Given the description of an element on the screen output the (x, y) to click on. 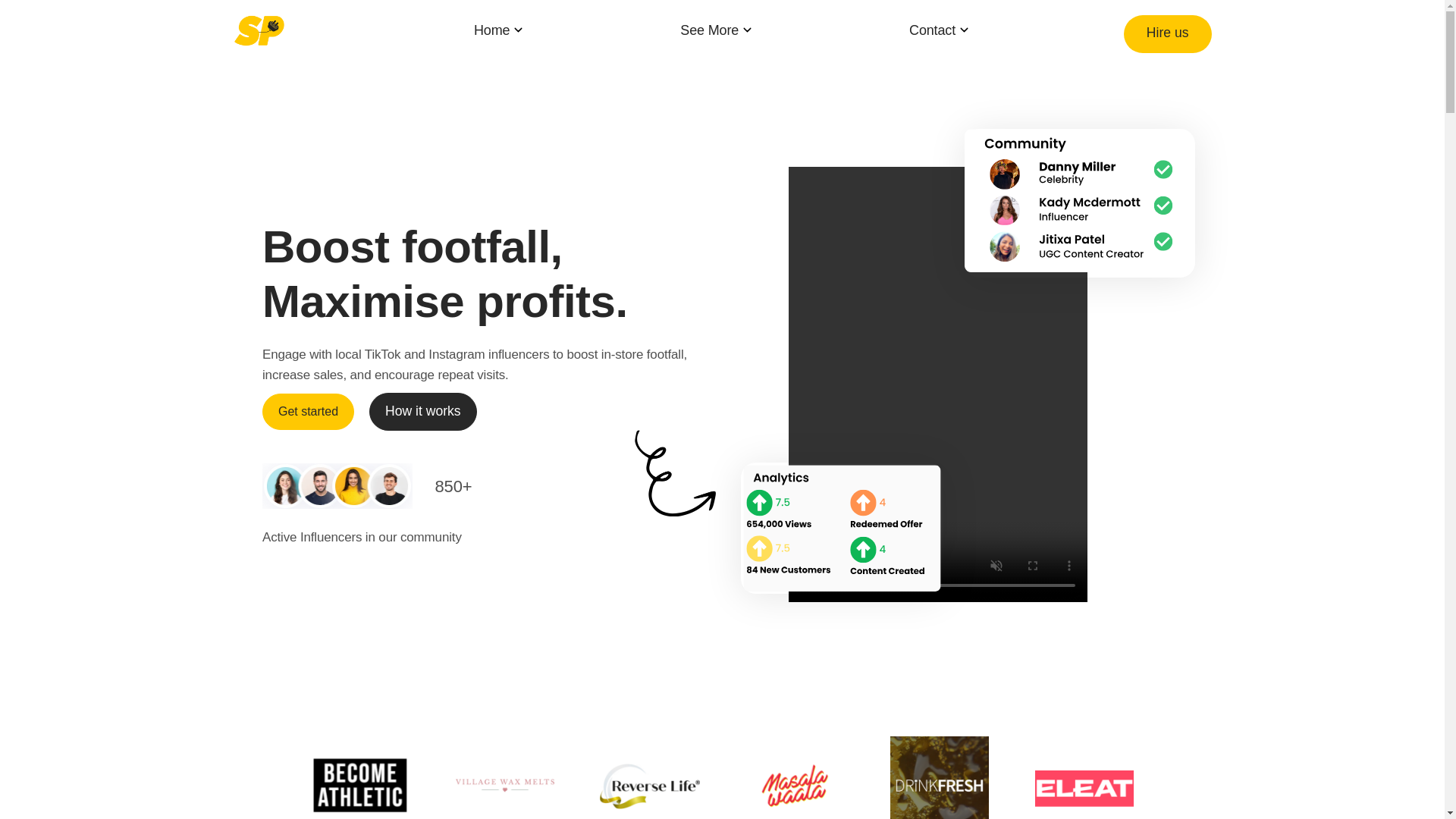
How it works (423, 411)
Get started (307, 411)
Hire us (1167, 34)
